Given the description of an element on the screen output the (x, y) to click on. 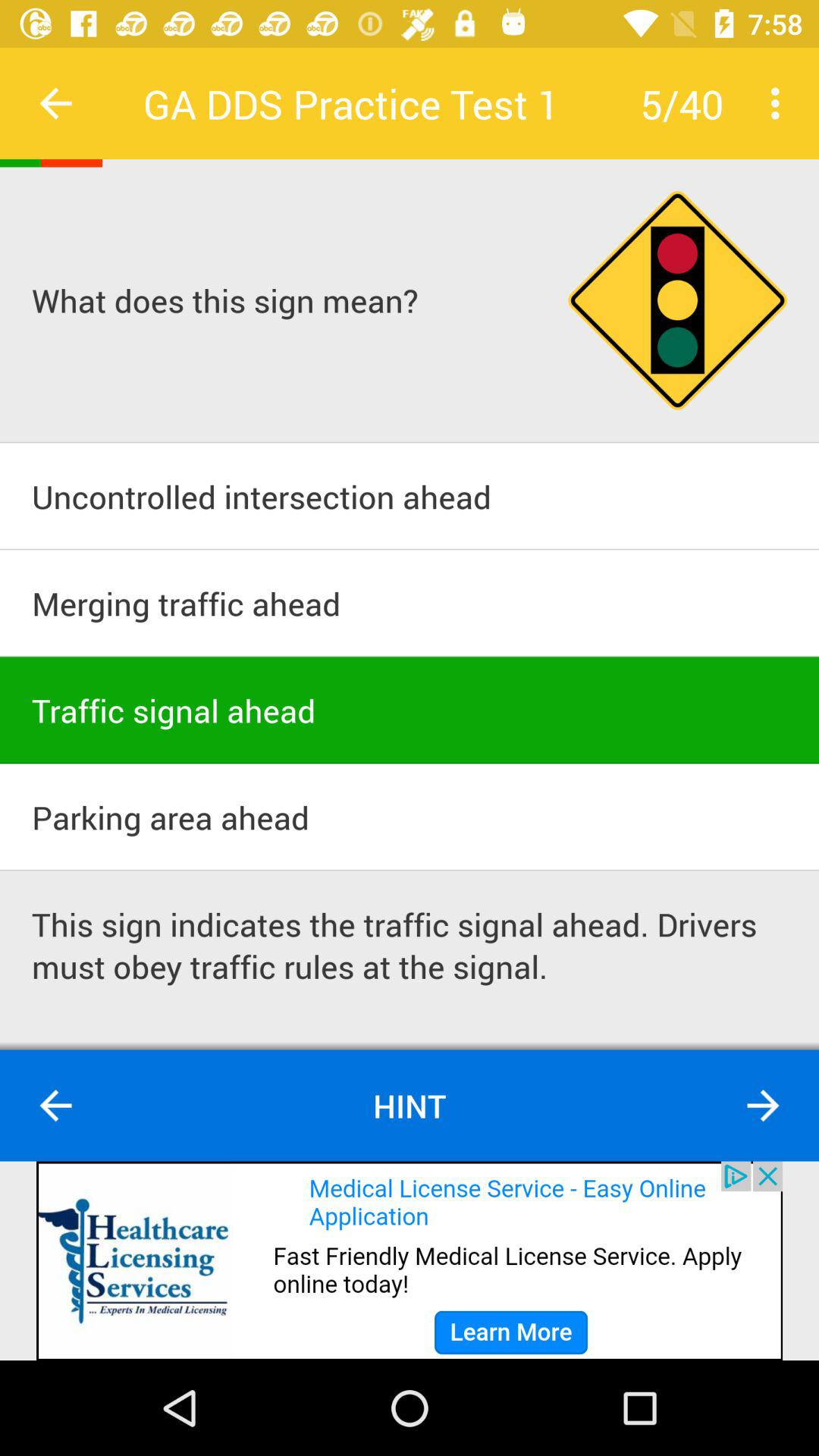
next hint (763, 1105)
